Given the description of an element on the screen output the (x, y) to click on. 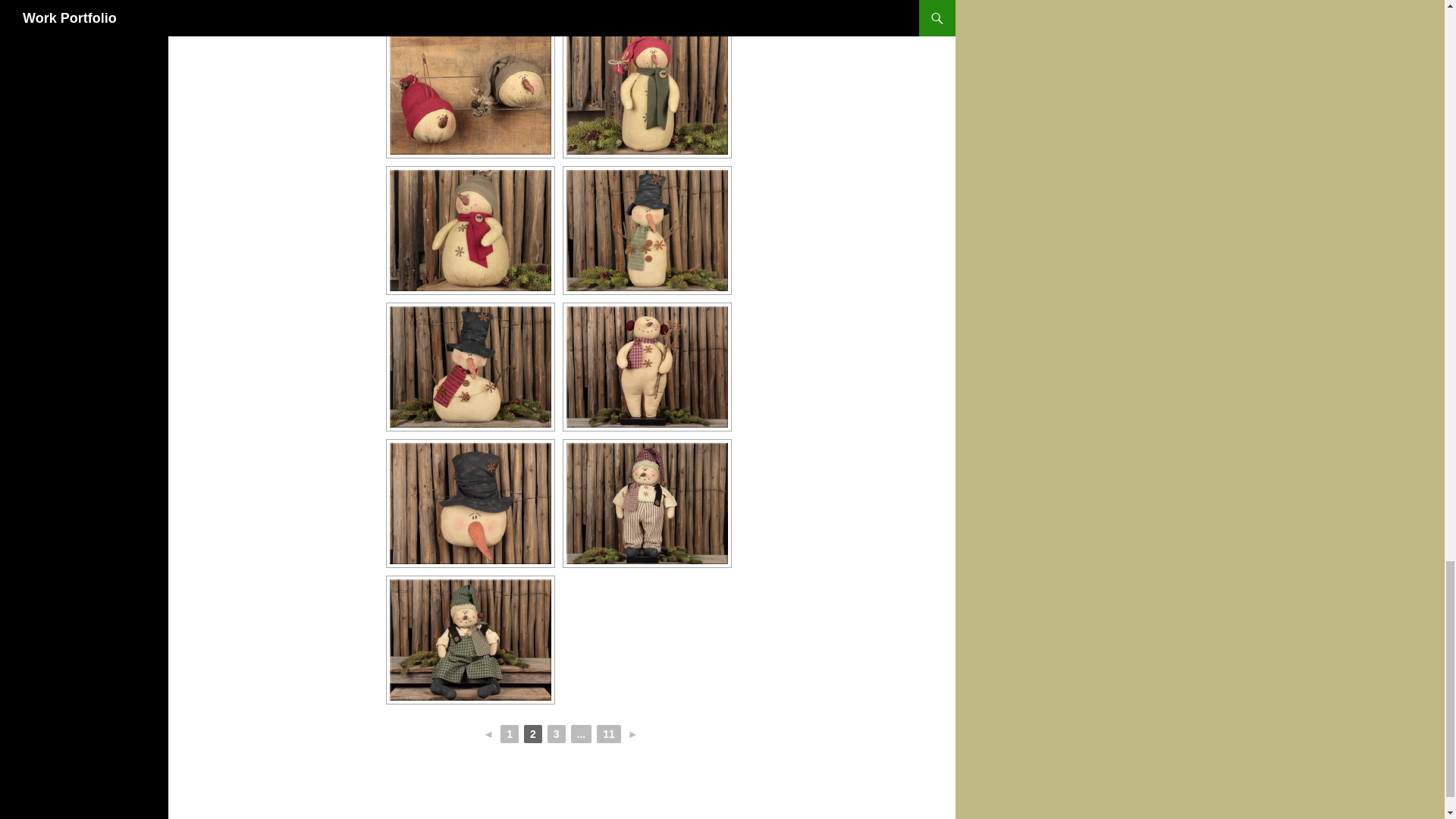
1 (509, 733)
